Given the description of an element on the screen output the (x, y) to click on. 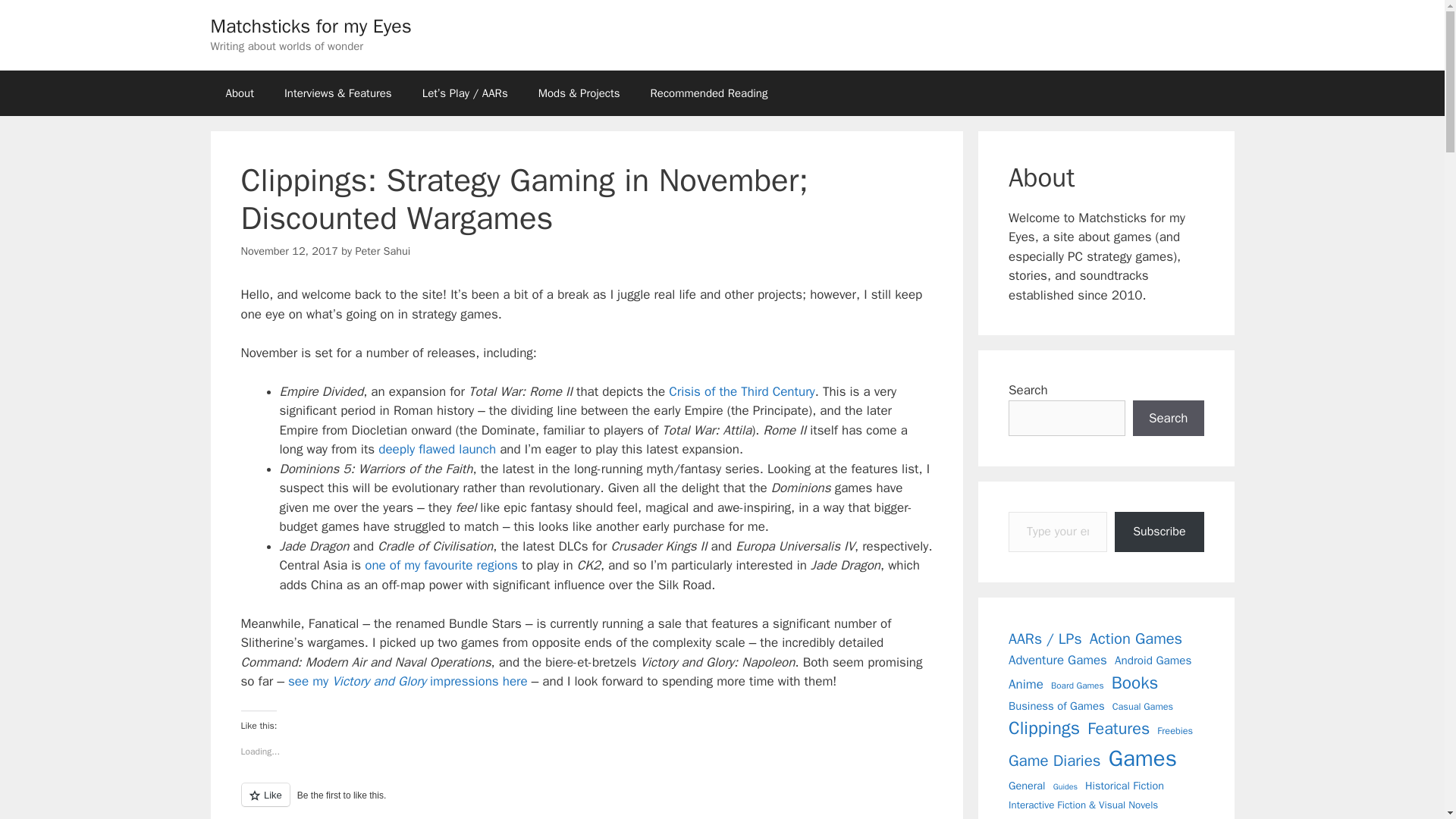
Features (1118, 728)
Recommended Reading (708, 92)
View all posts by Peter Sahui (382, 250)
Books (1135, 683)
Crisis of the Third Century (741, 391)
one of my favourite regions (441, 565)
Board Games (1077, 685)
Freebies (1174, 730)
Android Games (1153, 660)
Please fill in this field. (1057, 531)
Interviews (1038, 816)
Clippings (1044, 728)
Games (1142, 758)
Guides (1064, 787)
Adventure Games (1057, 659)
